Given the description of an element on the screen output the (x, y) to click on. 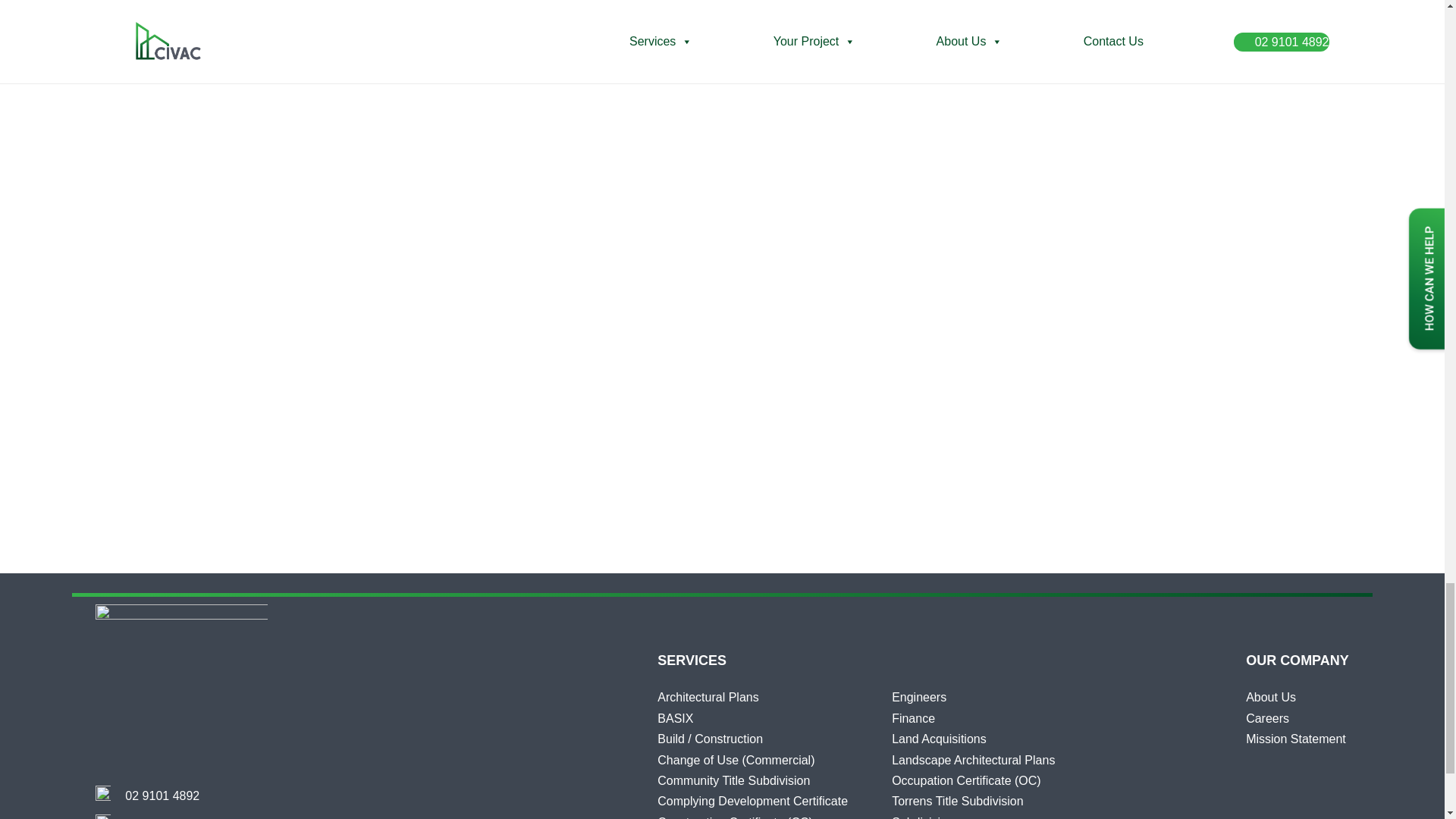
Talk to Us Now (162, 795)
